Given the description of an element on the screen output the (x, y) to click on. 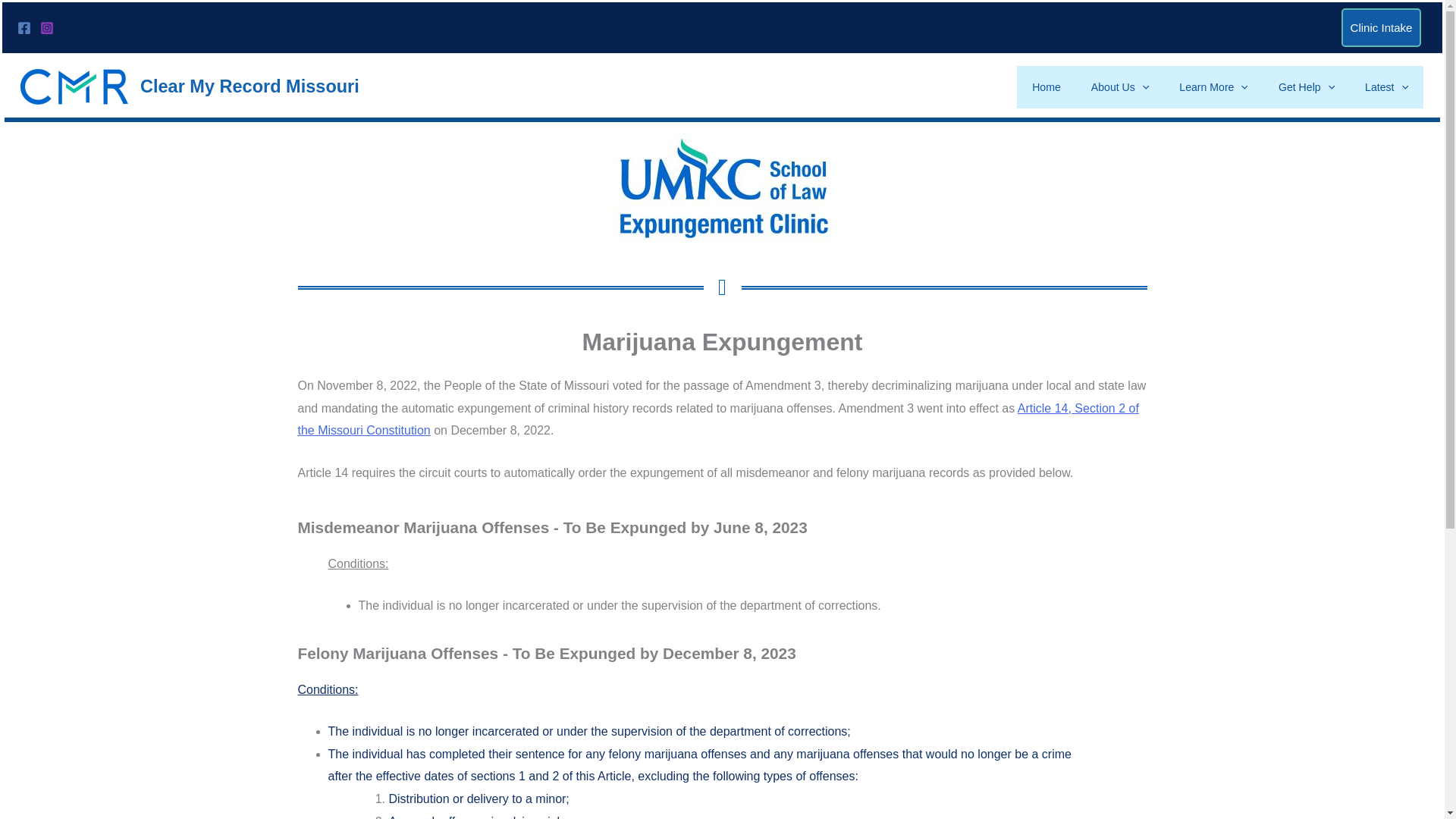
Clinic Intake (1380, 27)
About Us (1119, 86)
Home (1045, 86)
Learn More (1213, 86)
Clear My Record Missouri (249, 86)
Get Help (1306, 86)
Latest (1386, 86)
